Given the description of an element on the screen output the (x, y) to click on. 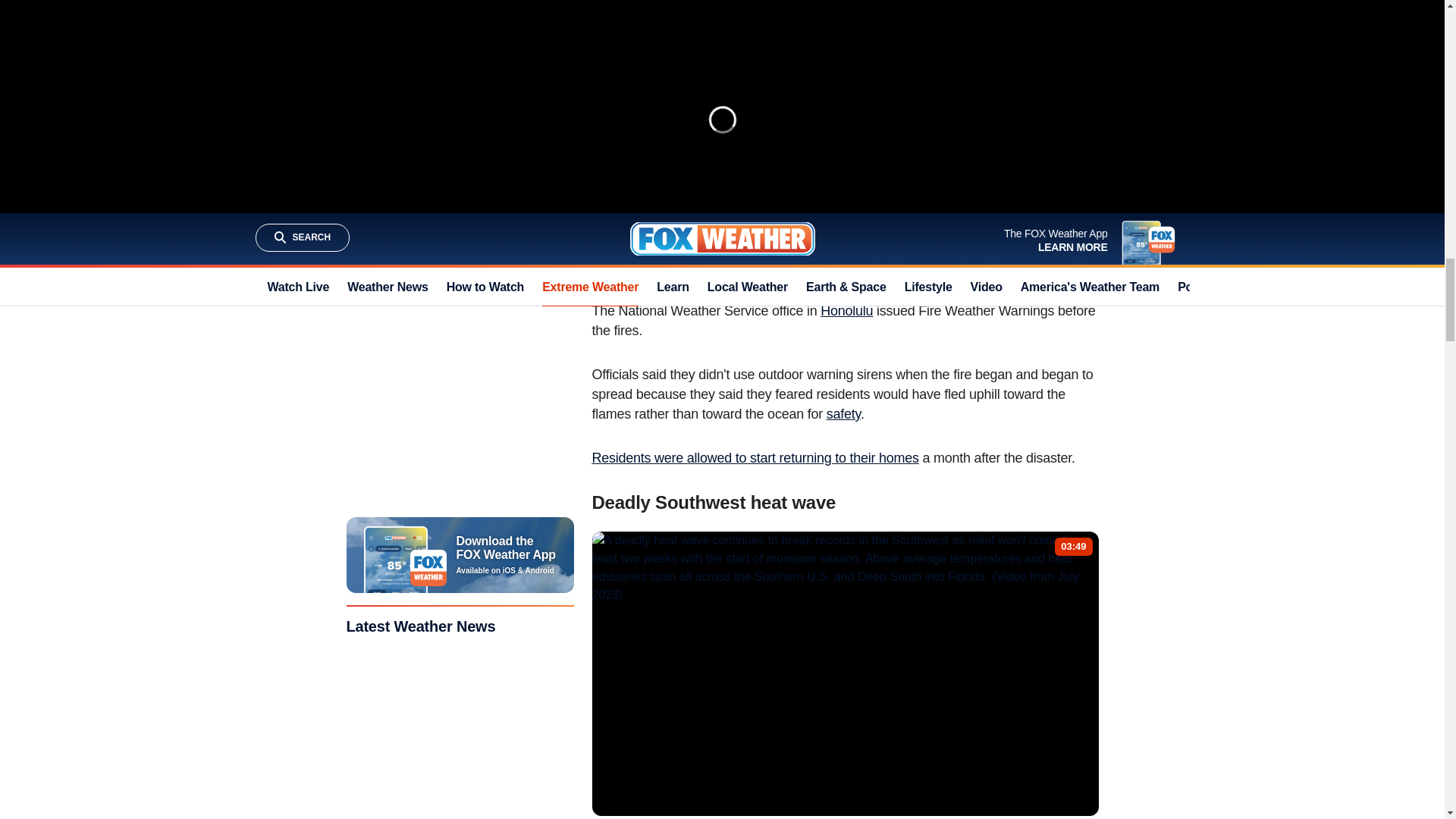
Hawaii (611, 246)
New video of damage from Lahaina brush fires (712, 177)
deadliest wildfire in modern U.S. history (849, 246)
